Given the description of an element on the screen output the (x, y) to click on. 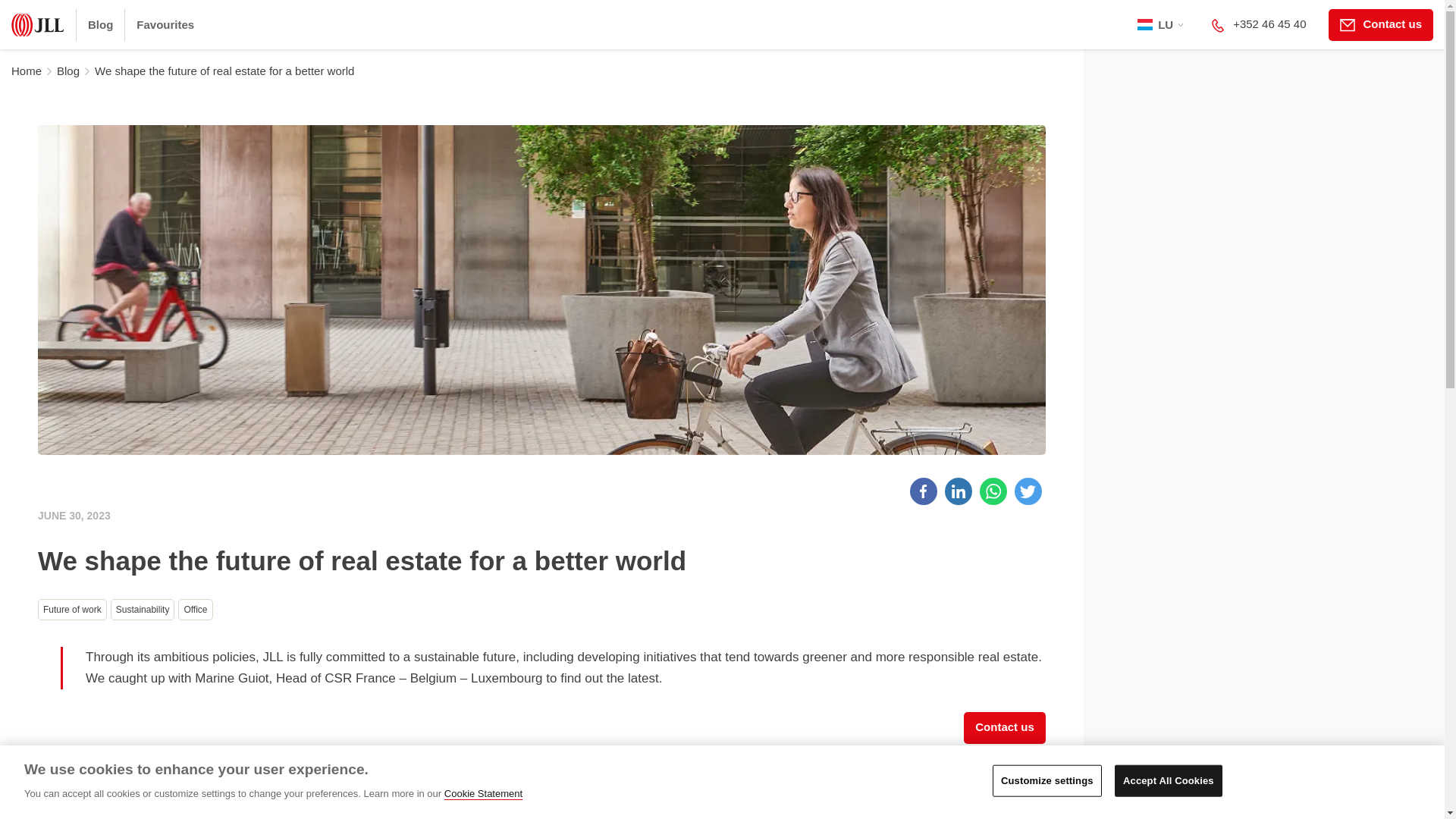
Blog (100, 24)
Favourites (164, 24)
LU (1160, 24)
